Given the description of an element on the screen output the (x, y) to click on. 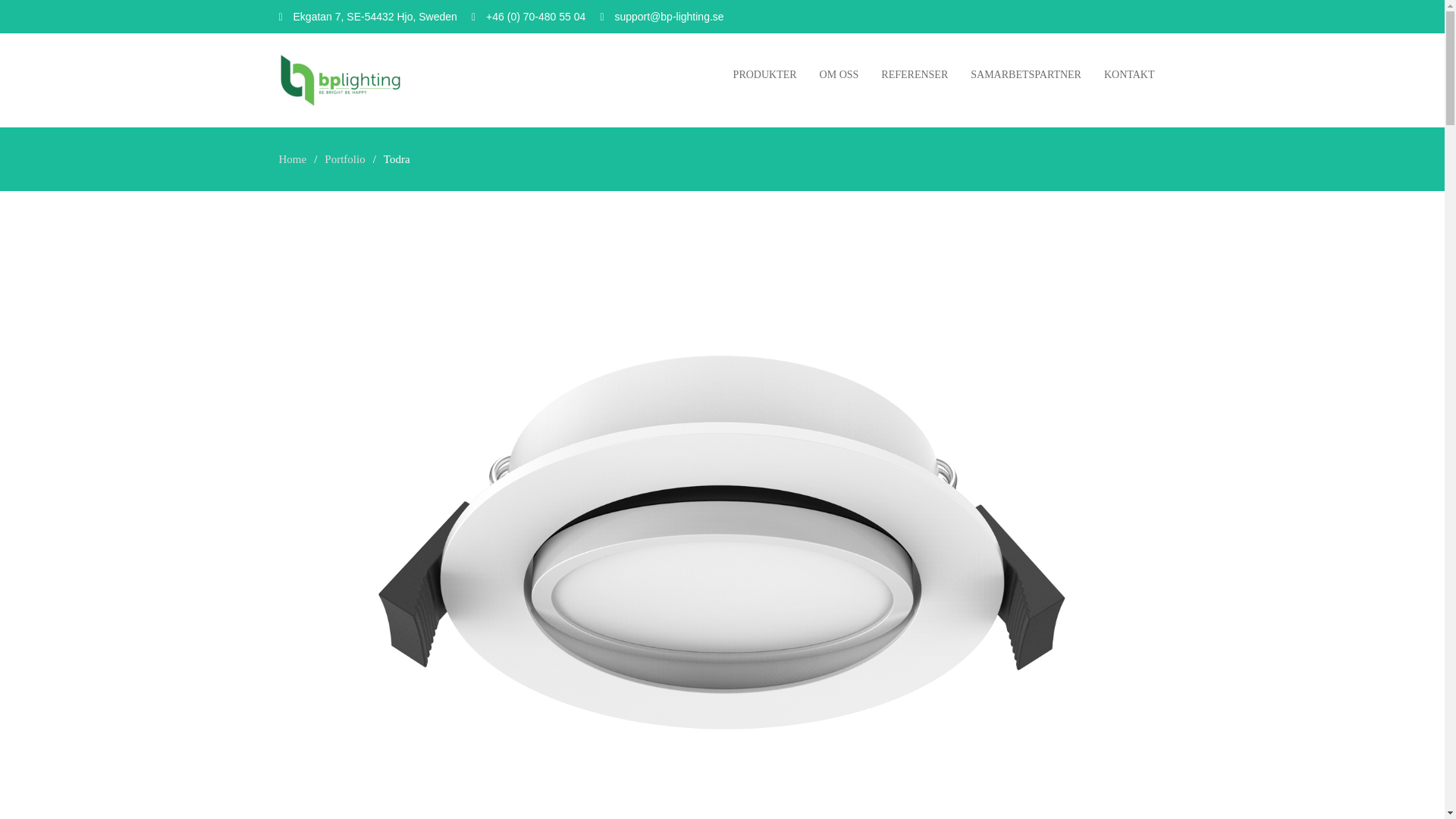
Home (293, 159)
REFERENSER (914, 74)
PRODUKTER (765, 74)
KONTAKT (1129, 74)
OM OSS (839, 74)
Ekgatan 7, SE-54432 Hjo, Sweden (373, 15)
Portfolio (344, 159)
SAMARBETSPARTNER (1026, 74)
